Given the description of an element on the screen output the (x, y) to click on. 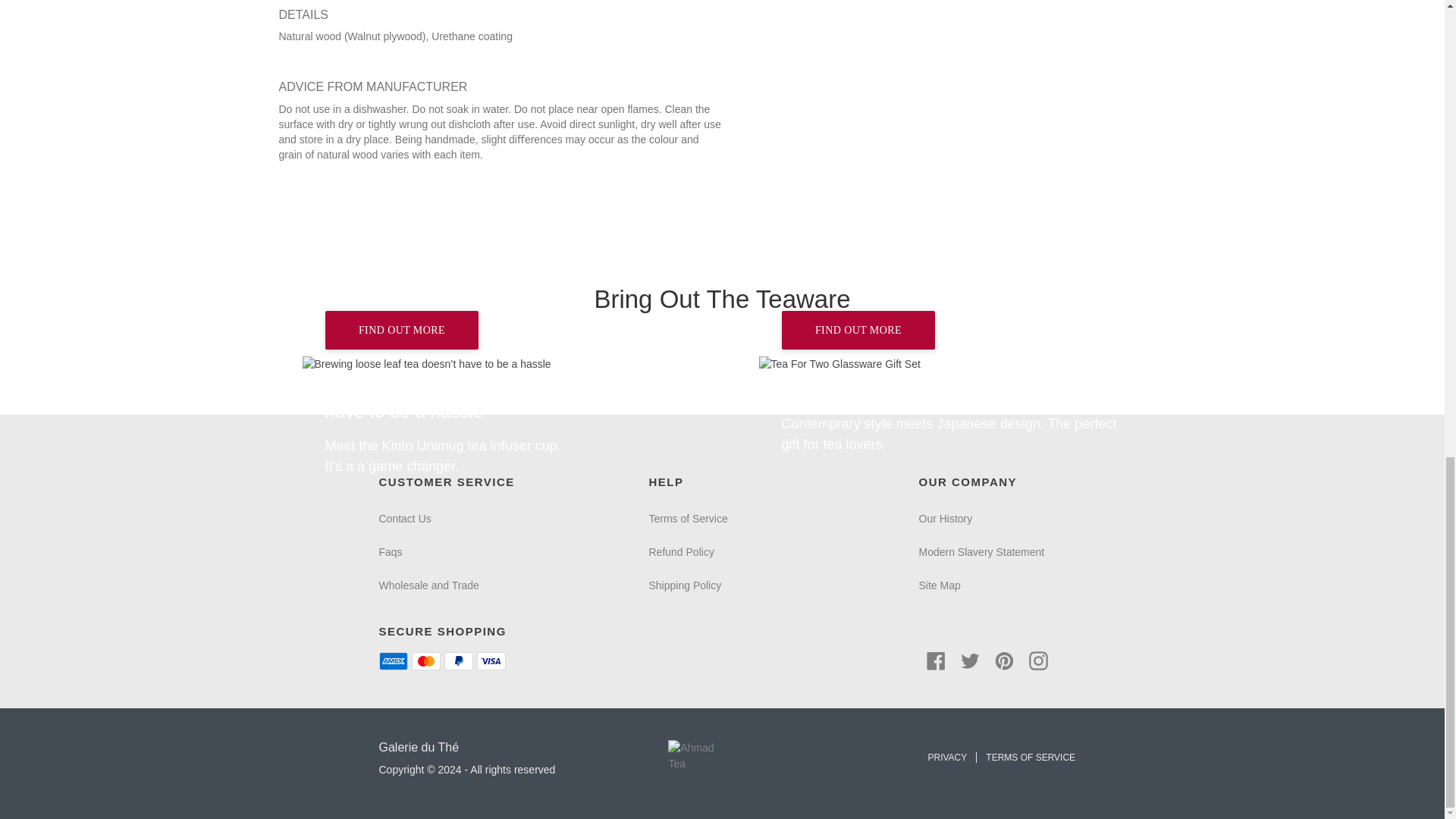
FIND OUT MORE (401, 330)
FIND OUT MORE (493, 364)
